Given the description of an element on the screen output the (x, y) to click on. 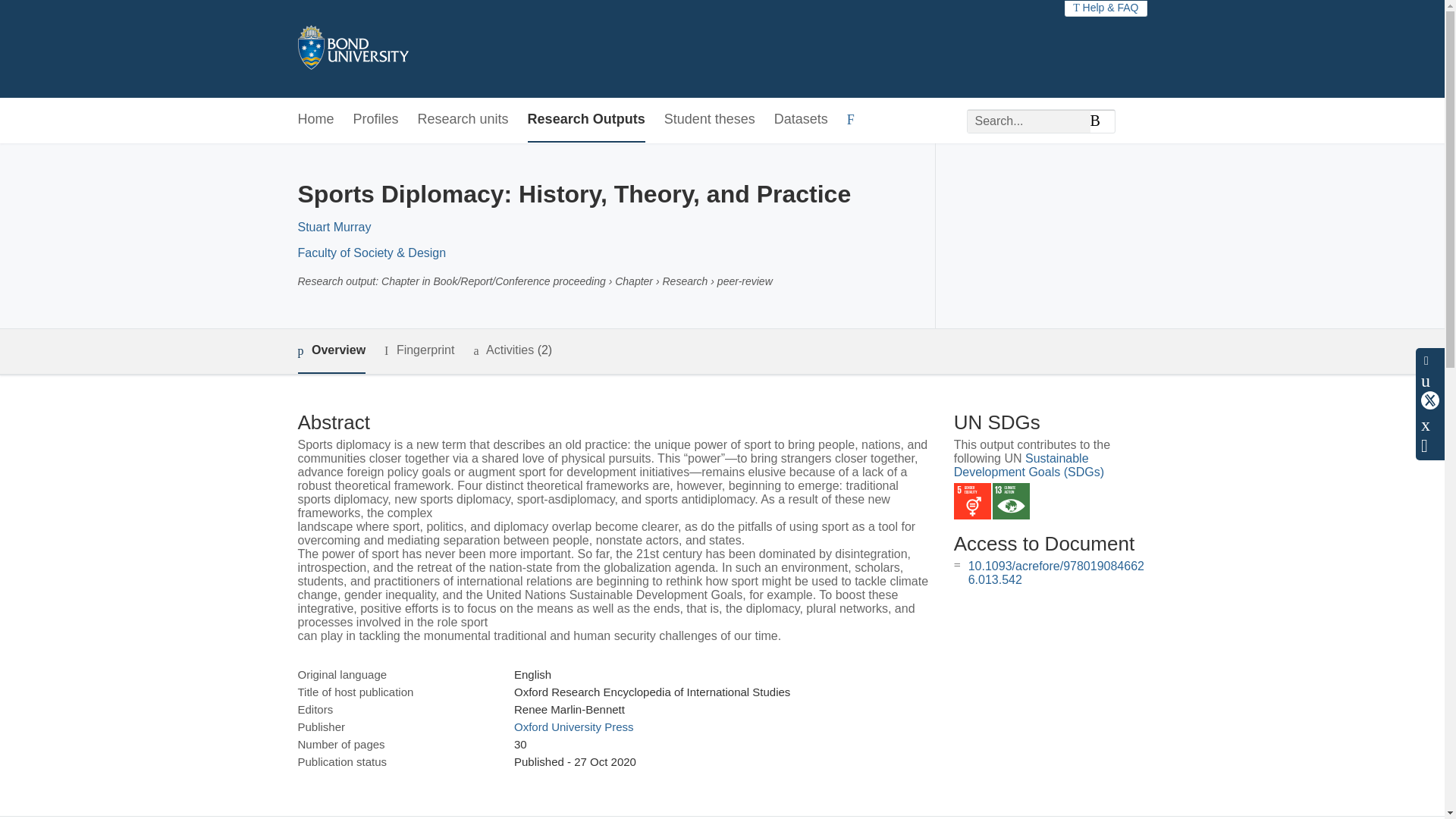
Research units (462, 119)
Profiles (375, 119)
Research Outputs (586, 119)
Fingerprint (419, 350)
Student theses (709, 119)
SDG 5 - Gender Equality (972, 501)
Datasets (801, 119)
Overview (331, 351)
Stuart Murray (334, 226)
